Given the description of an element on the screen output the (x, y) to click on. 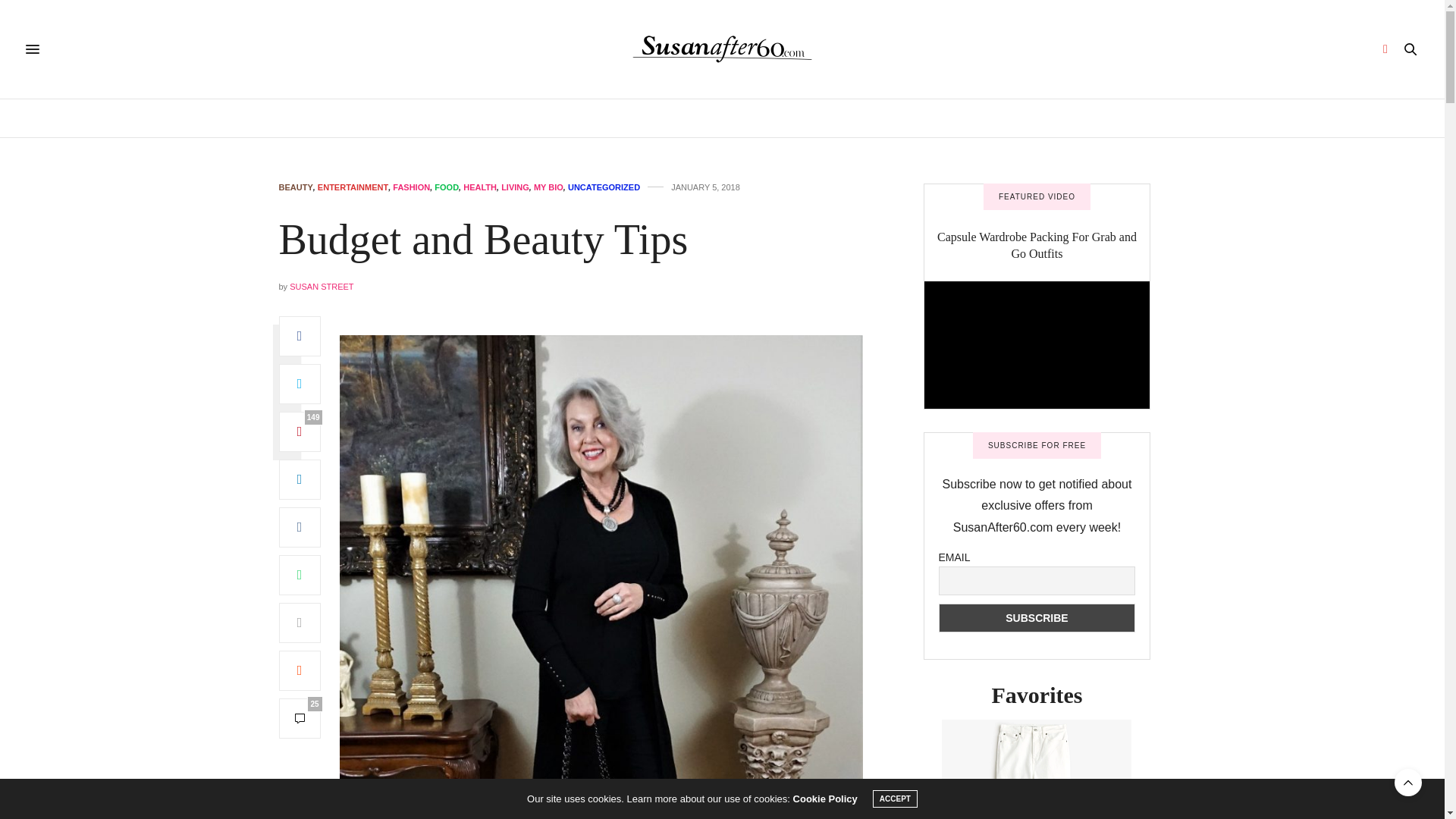
BEAUTY (662, 118)
BIOGRAPHY (472, 118)
ENTERTAINMENT (352, 187)
SusanAfter60.com (721, 49)
SUSAN STREET (321, 286)
HEALTH (544, 118)
FASHION (411, 187)
MY BIO (548, 187)
CONTACT (1018, 118)
OUTFITS (951, 118)
FASHION (834, 118)
LIVING (514, 187)
ENTERTAINMENT (747, 118)
HEALTH (479, 187)
UNCATEGORIZED (603, 187)
